Given the description of an element on the screen output the (x, y) to click on. 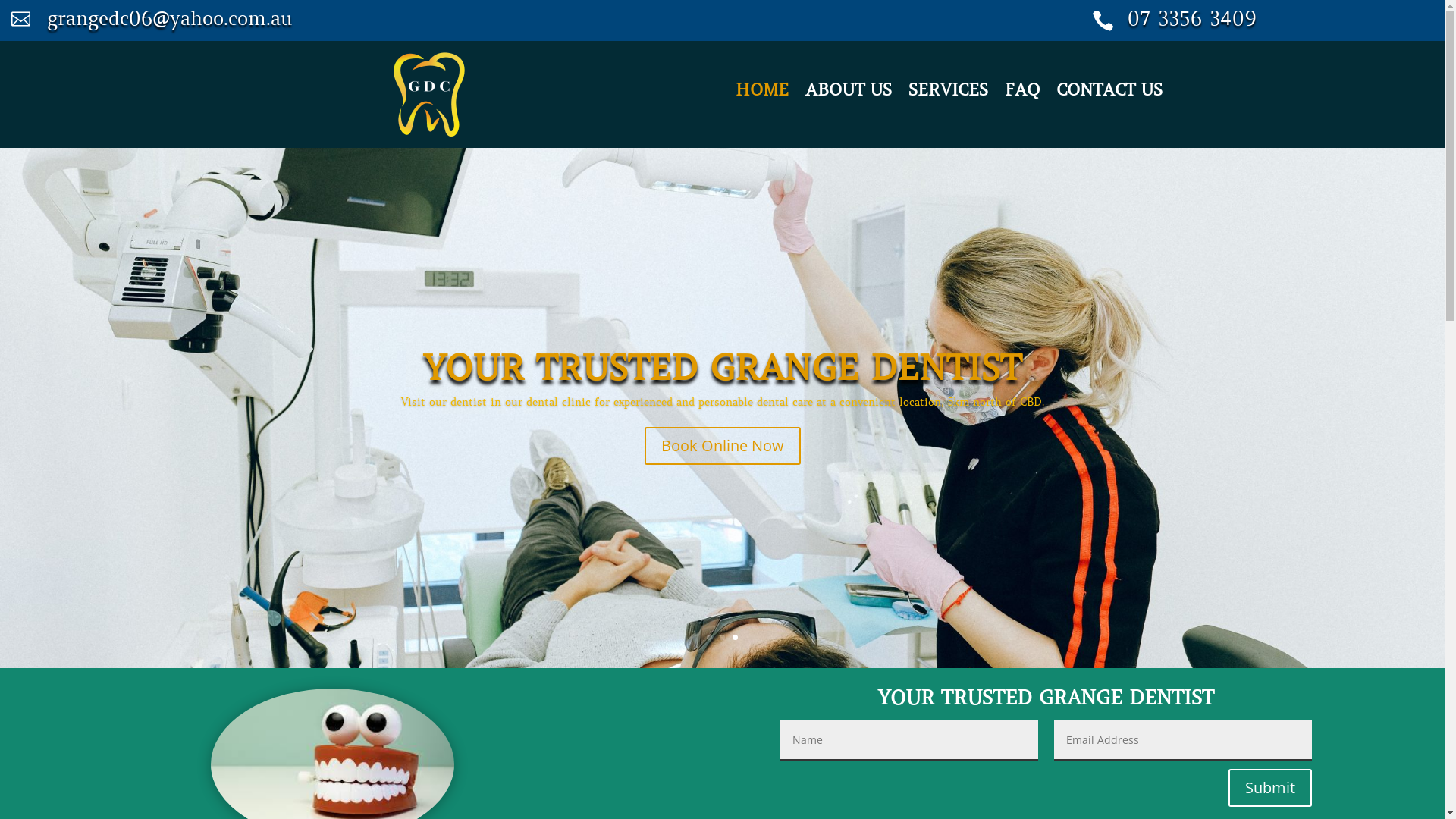
Book Online Now Element type: text (722, 445)
3 Element type: text (734, 637)
logo transparent Element type: hover (429, 93)
SERVICES Element type: text (948, 92)
Submit Element type: text (1269, 787)
1 Element type: text (709, 637)
YOUR TRUSTED GRANGE DENTIST Element type: text (721, 367)
ABOUT US Element type: text (848, 92)
FAQ Element type: text (1021, 92)
CONTACT US Element type: text (1109, 92)
2 Element type: text (721, 637)
HOME Element type: text (761, 92)
